Given the description of an element on the screen output the (x, y) to click on. 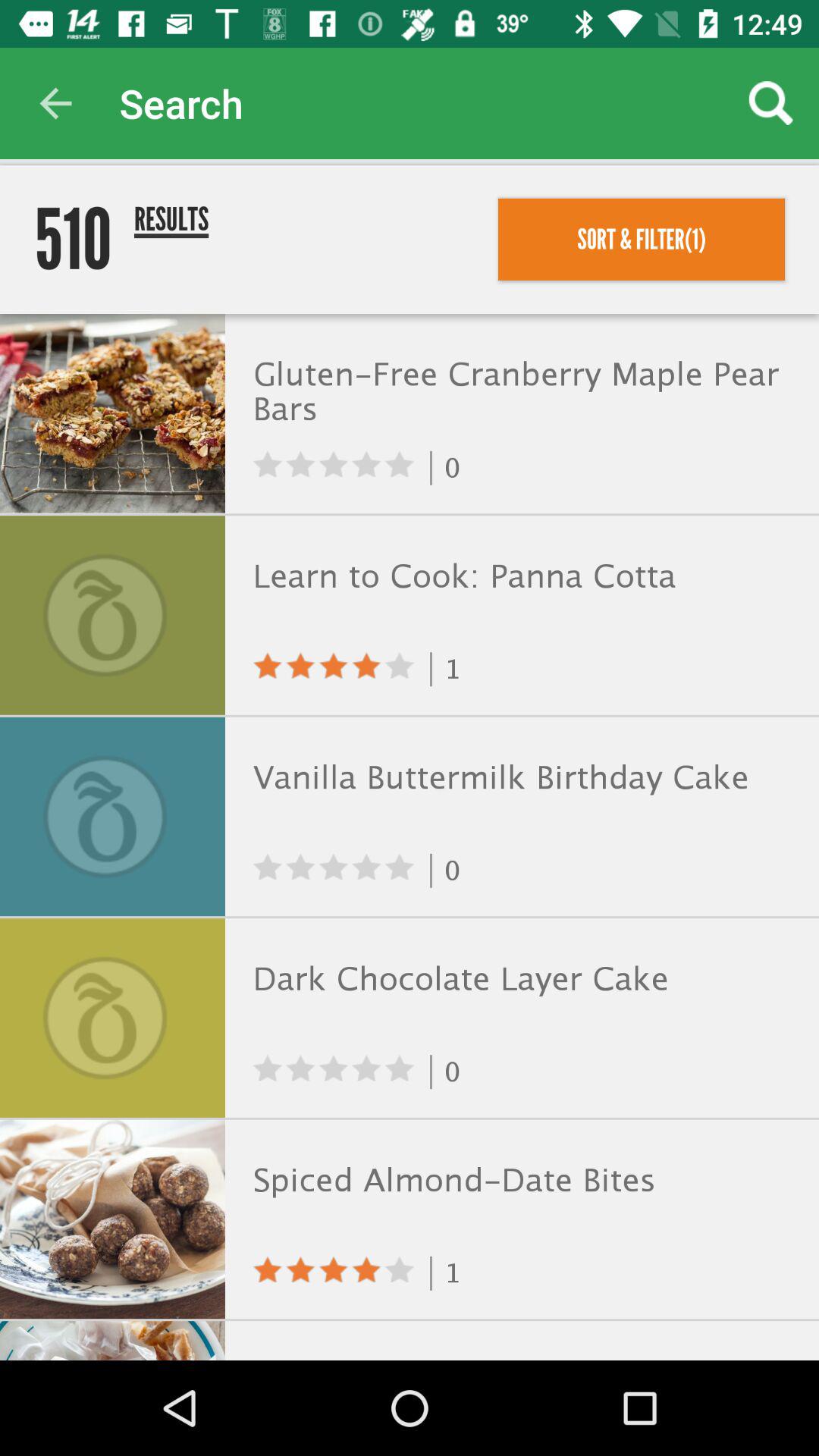
turn on learn to cook (518, 576)
